Given the description of an element on the screen output the (x, y) to click on. 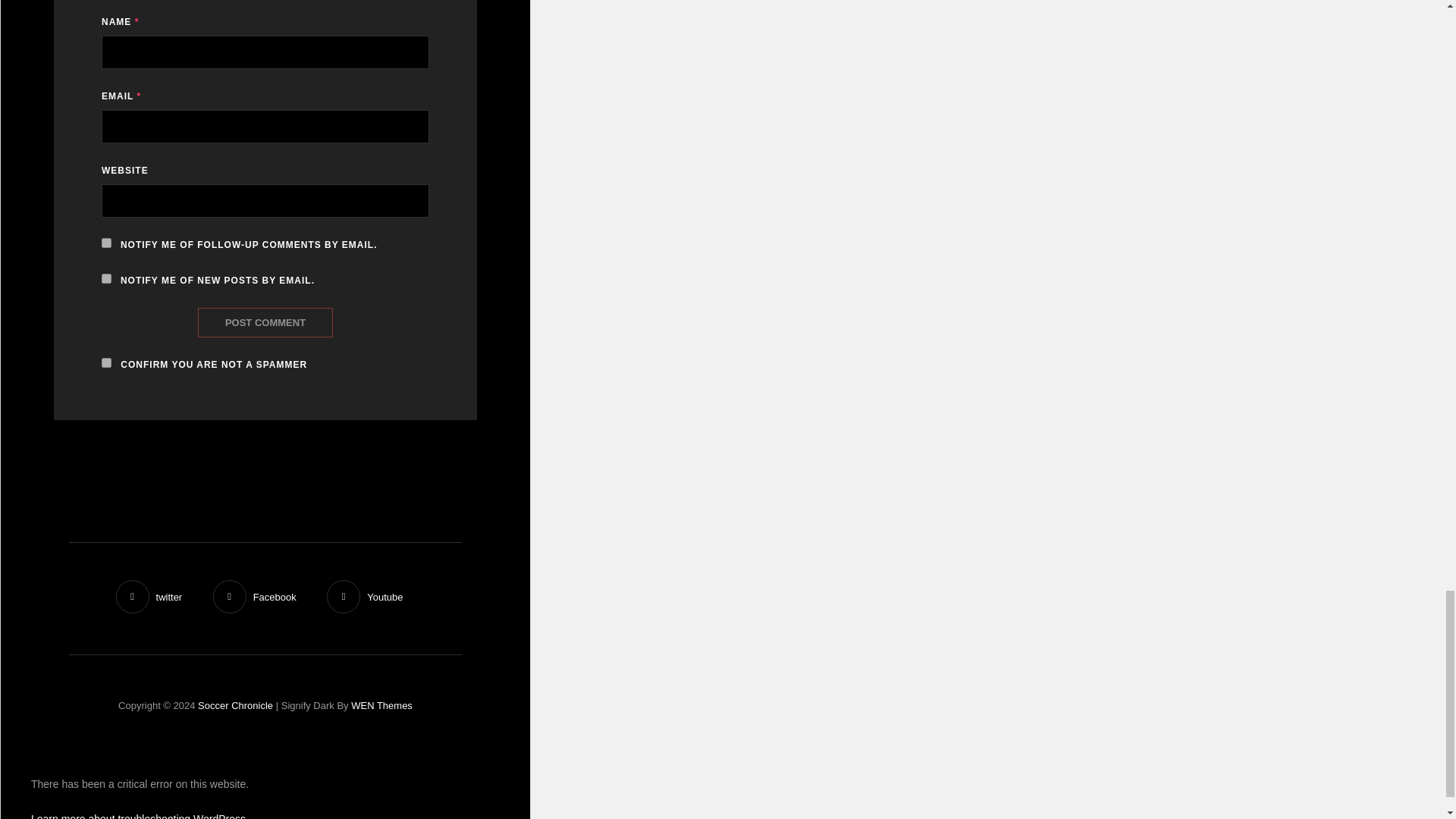
subscribe (106, 278)
on (106, 362)
Post Comment (265, 322)
subscribe (106, 243)
twitter (148, 596)
Facebook (254, 596)
Post Comment (265, 322)
